Given the description of an element on the screen output the (x, y) to click on. 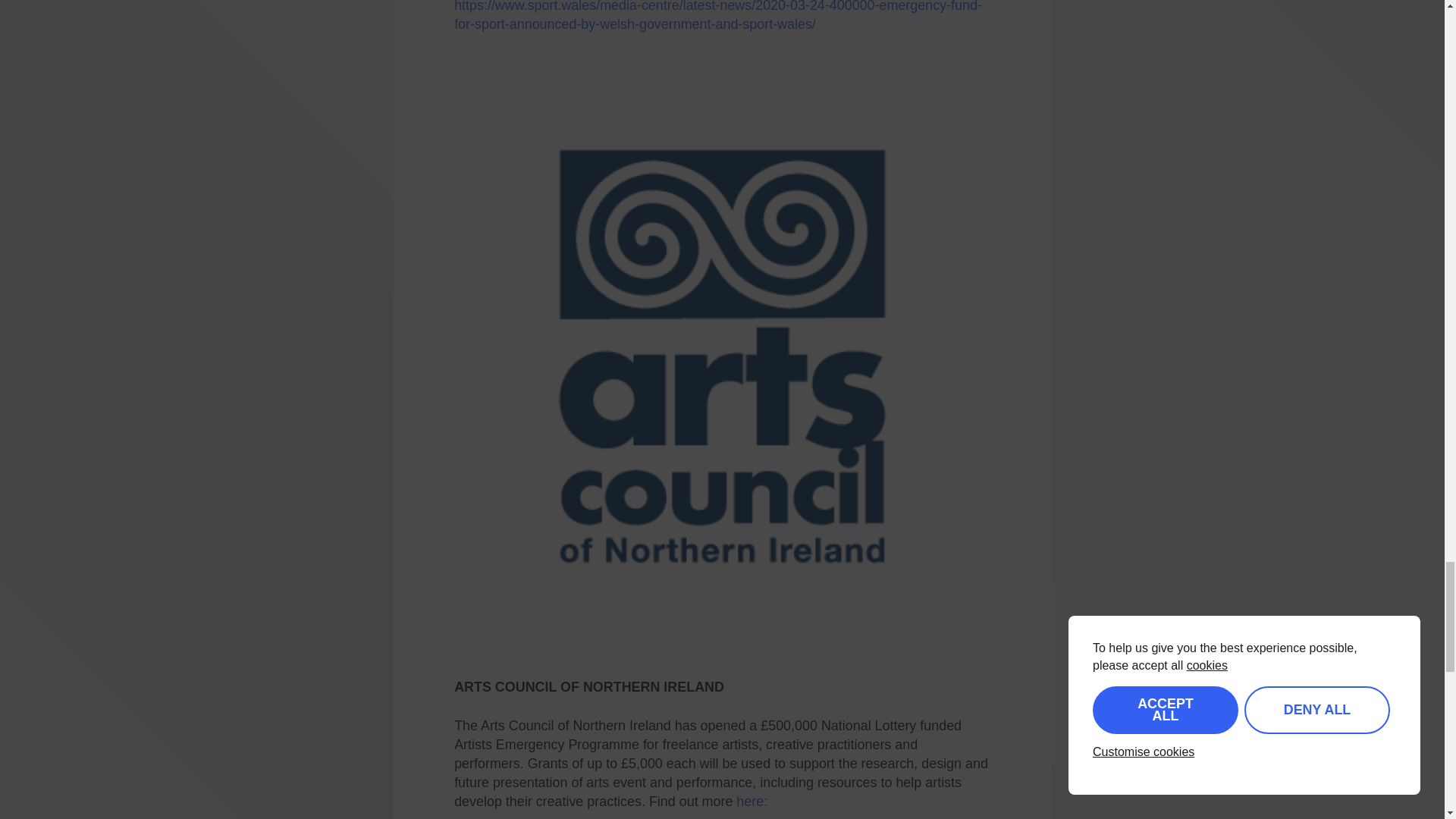
here: (751, 801)
